Given the description of an element on the screen output the (x, y) to click on. 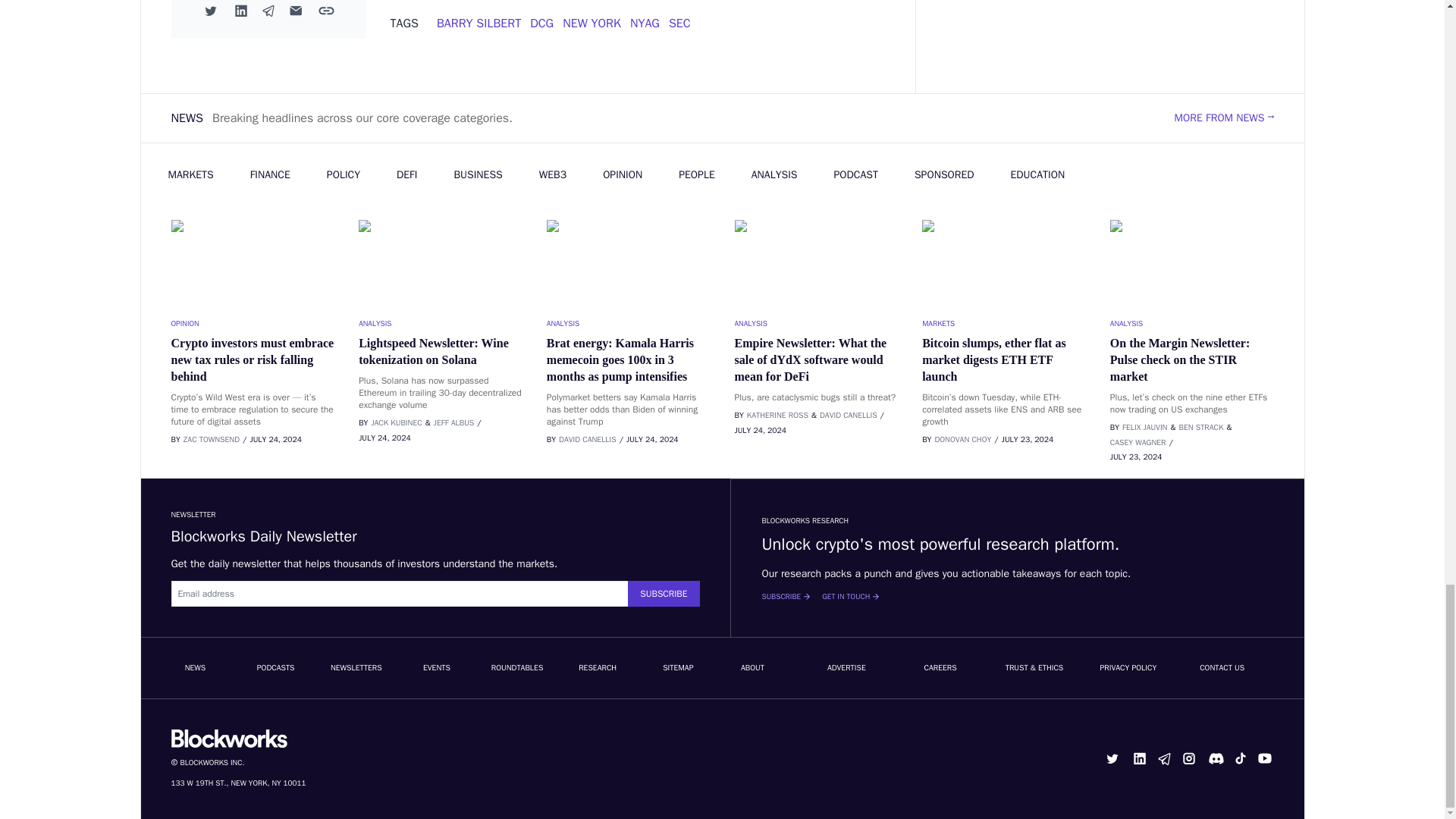
ANALYSIS (440, 323)
NYAG (644, 23)
MARKETS (1003, 323)
ANALYSIS (815, 323)
DCG (541, 23)
BARRY SILBERT (478, 23)
SEC (679, 23)
ANALYSIS (1191, 323)
ANALYSIS (628, 323)
NEW YORK (591, 23)
OPINION (252, 323)
